Given the description of an element on the screen output the (x, y) to click on. 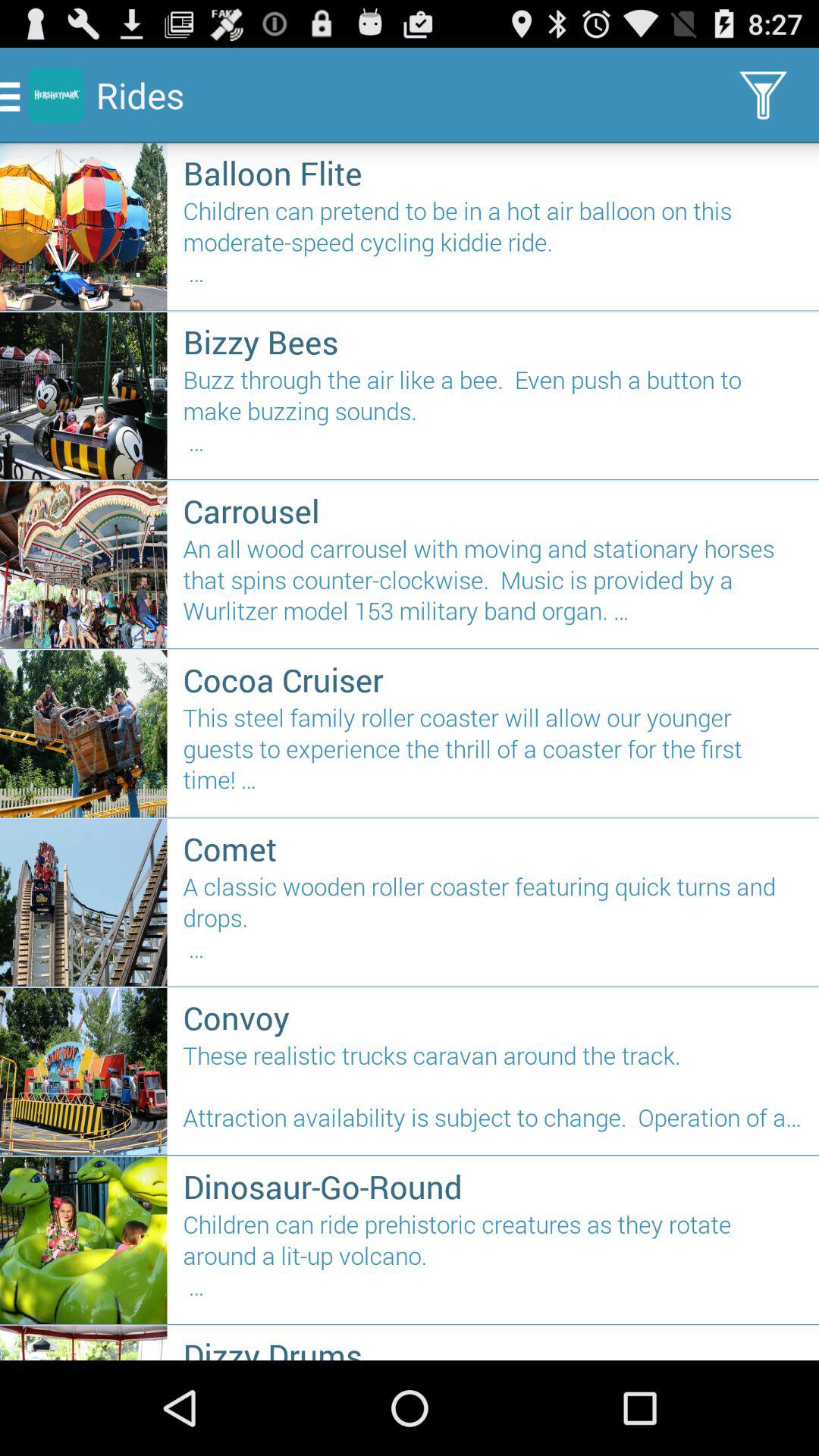
scroll until the convoy item (493, 1017)
